Given the description of an element on the screen output the (x, y) to click on. 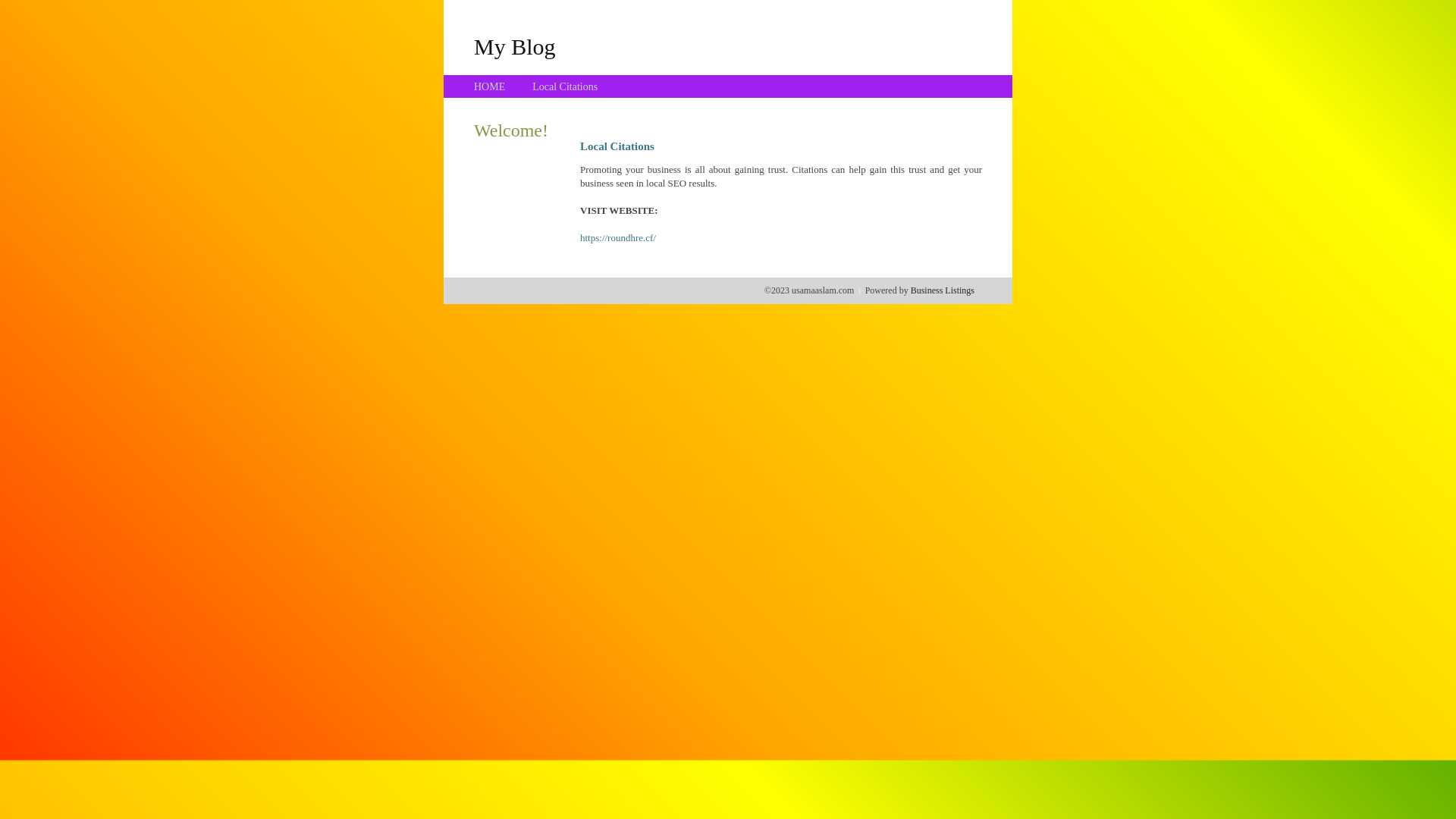
HOME Element type: text (489, 86)
Local Citations Element type: text (564, 86)
Business Listings Element type: text (942, 290)
https://roundhre.cf/ Element type: text (617, 237)
My Blog Element type: text (514, 46)
